Given the description of an element on the screen output the (x, y) to click on. 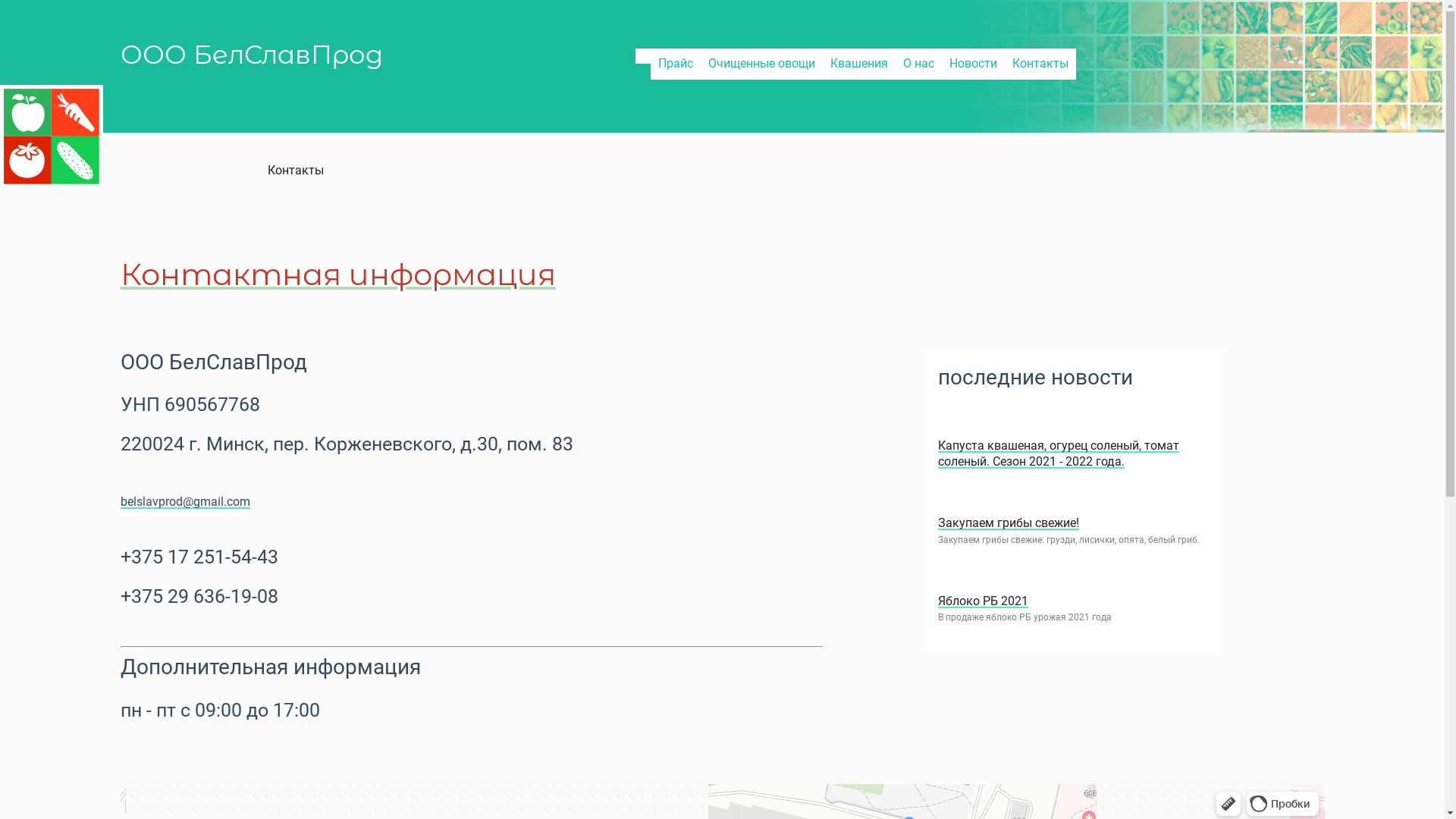
belslavprod@gmail.com Element type: text (185, 501)
